Given the description of an element on the screen output the (x, y) to click on. 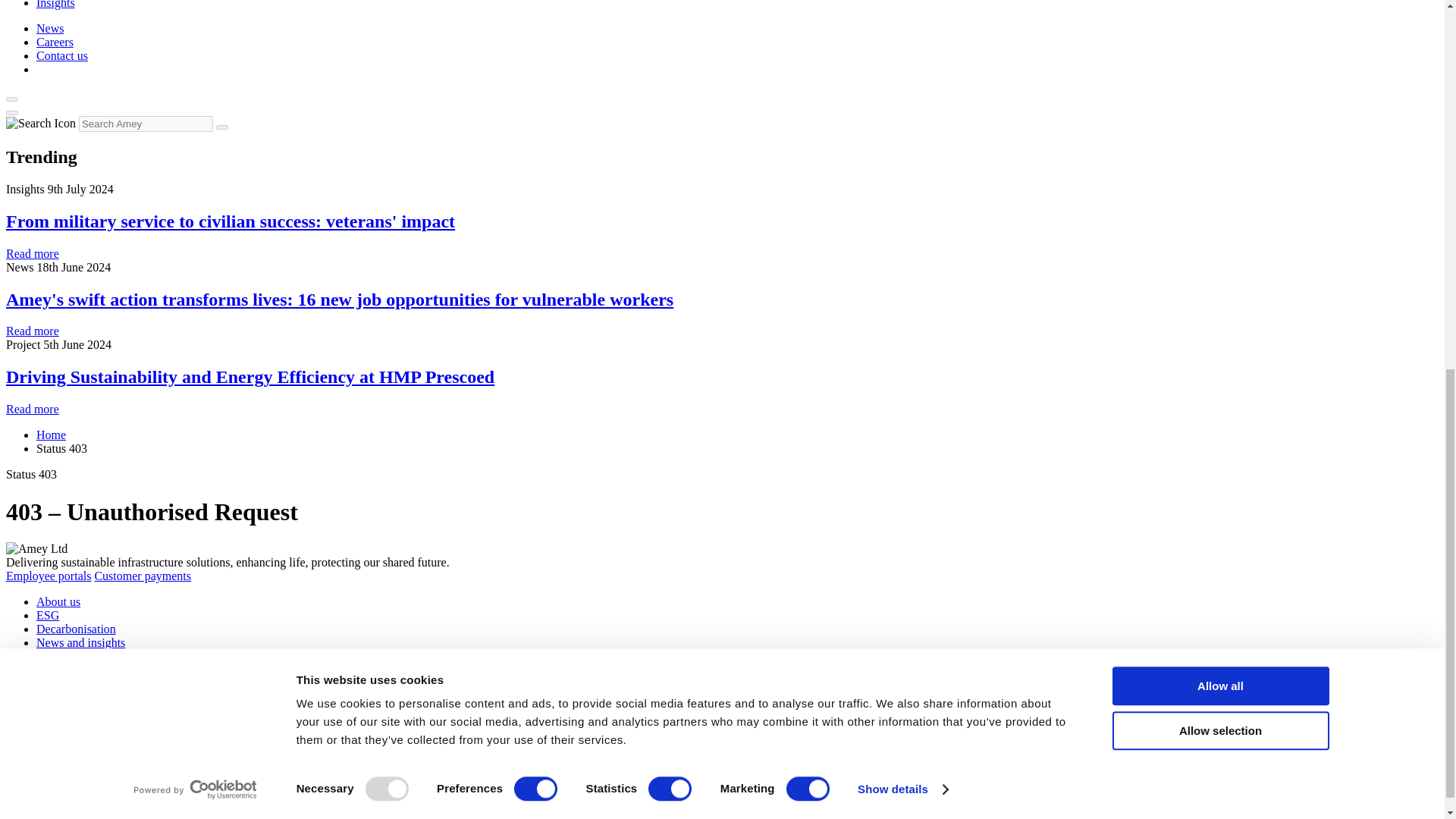
Show details (902, 104)
Search (221, 127)
